Given the description of an element on the screen output the (x, y) to click on. 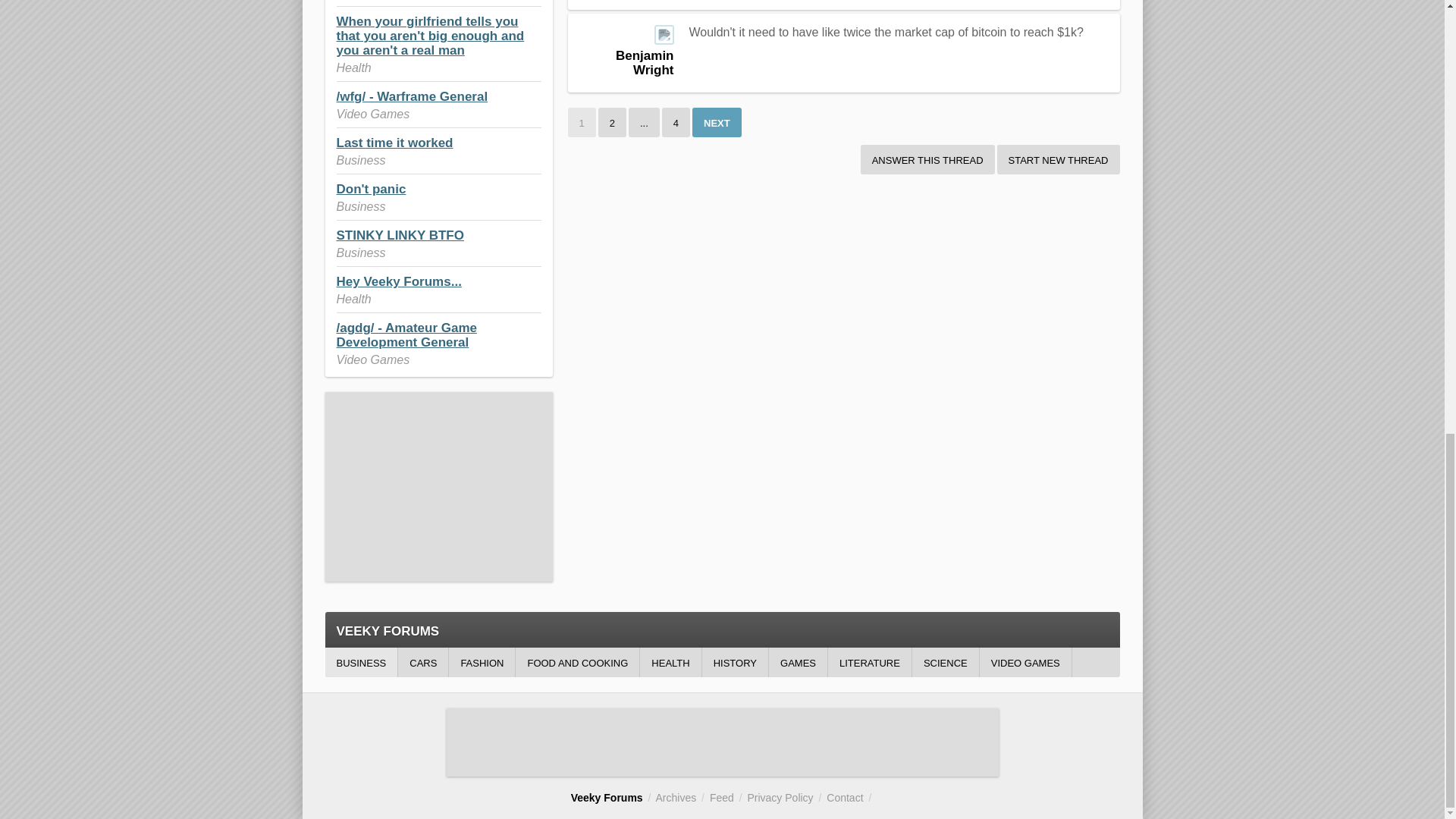
... (643, 122)
ANSWER THIS THREAD (927, 159)
2 (612, 122)
STINKY LINKY BTFO (400, 235)
NEXT (717, 122)
Hey Veeky Forums... (398, 281)
Last time it worked (394, 142)
Don't panic (371, 188)
4 (676, 122)
START NEW THREAD (1058, 159)
